Given the description of an element on the screen output the (x, y) to click on. 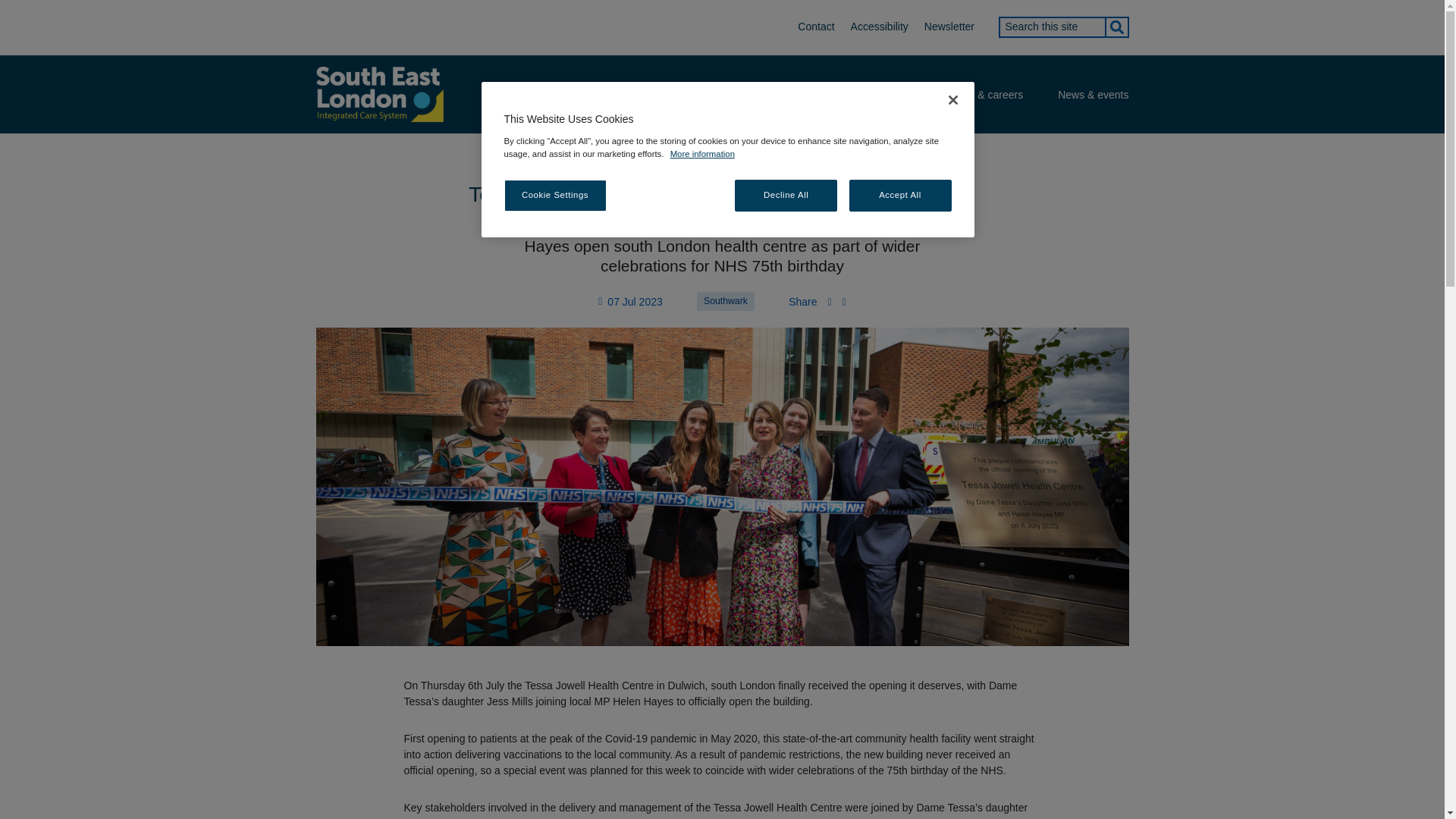
Contact (816, 26)
Who we are (888, 94)
Get involved (797, 94)
Newsletter (948, 26)
Accessibility (879, 26)
Our residents (608, 94)
In your area (703, 94)
